Given the description of an element on the screen output the (x, y) to click on. 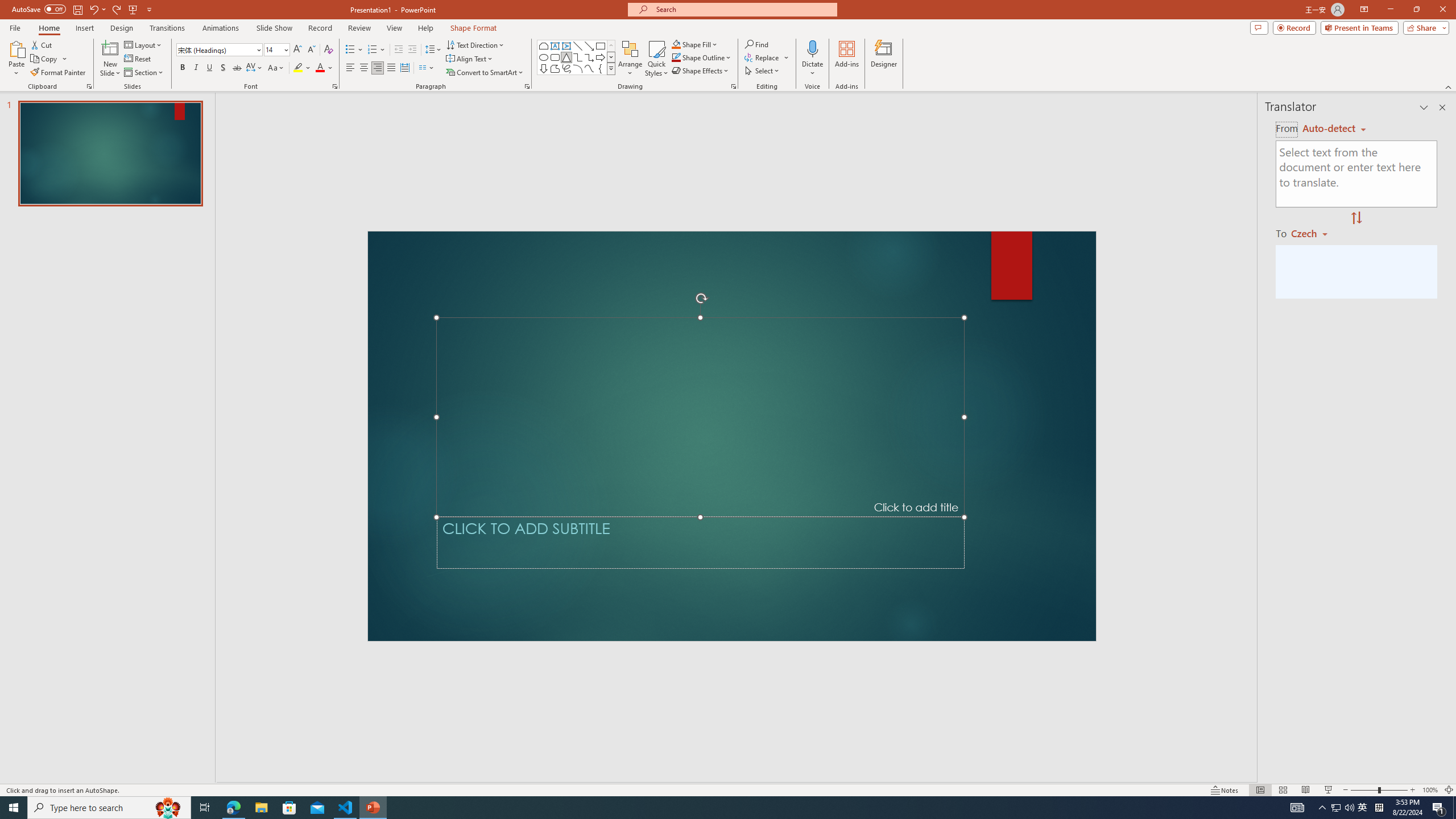
Rectangle: Top Corners Snipped (543, 45)
